Given the description of an element on the screen output the (x, y) to click on. 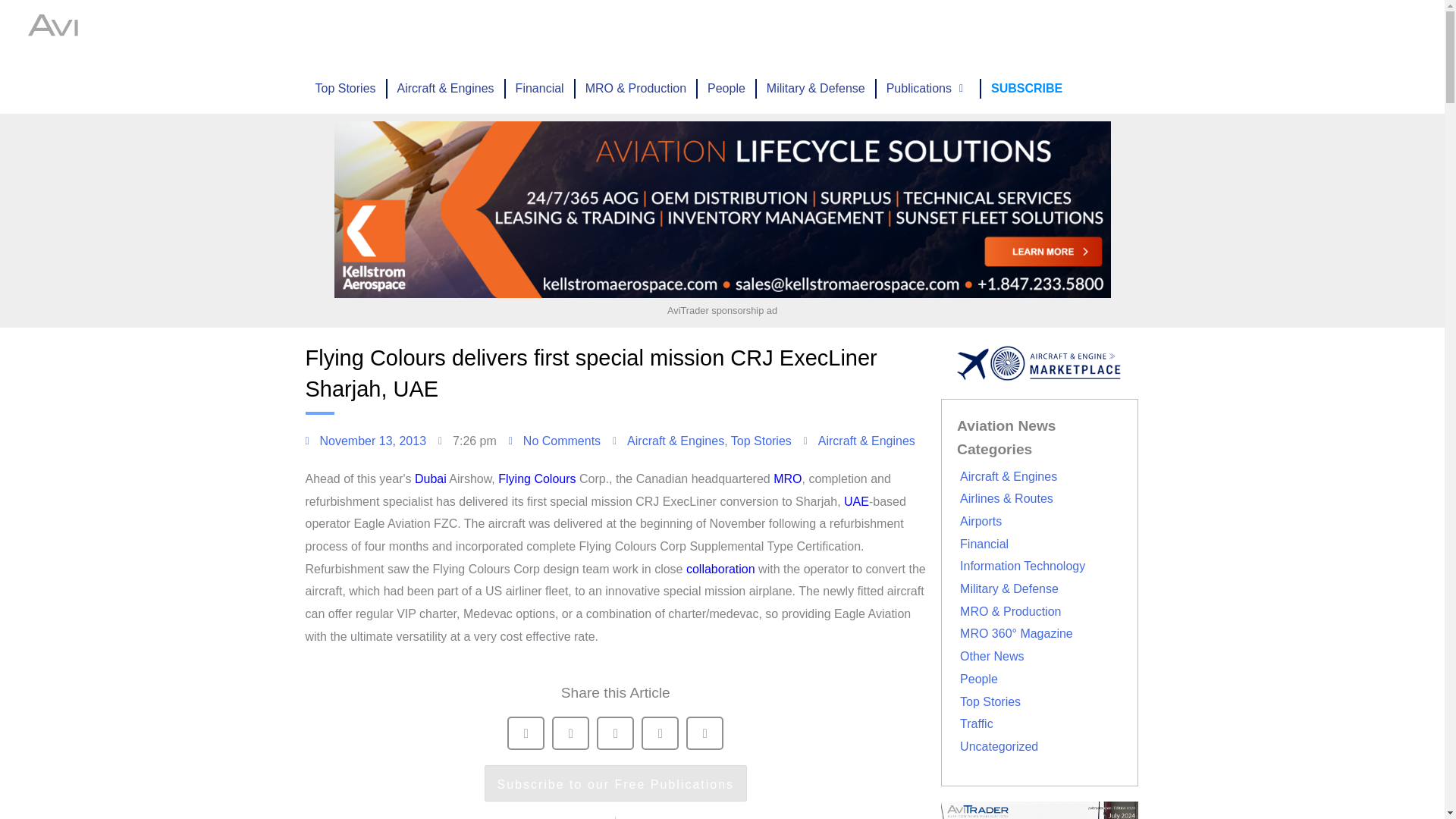
Posts tagged with collaboration (720, 568)
About AviTrader (863, 31)
Our Team (949, 31)
Contact Us (1021, 31)
Posts tagged with UAE (856, 501)
Posts tagged with Dubai (430, 478)
Posts tagged with MRO (787, 478)
Posts tagged with Flying Colours (536, 478)
Upcoming Events (583, 31)
Advertising (681, 31)
